Given the description of an element on the screen output the (x, y) to click on. 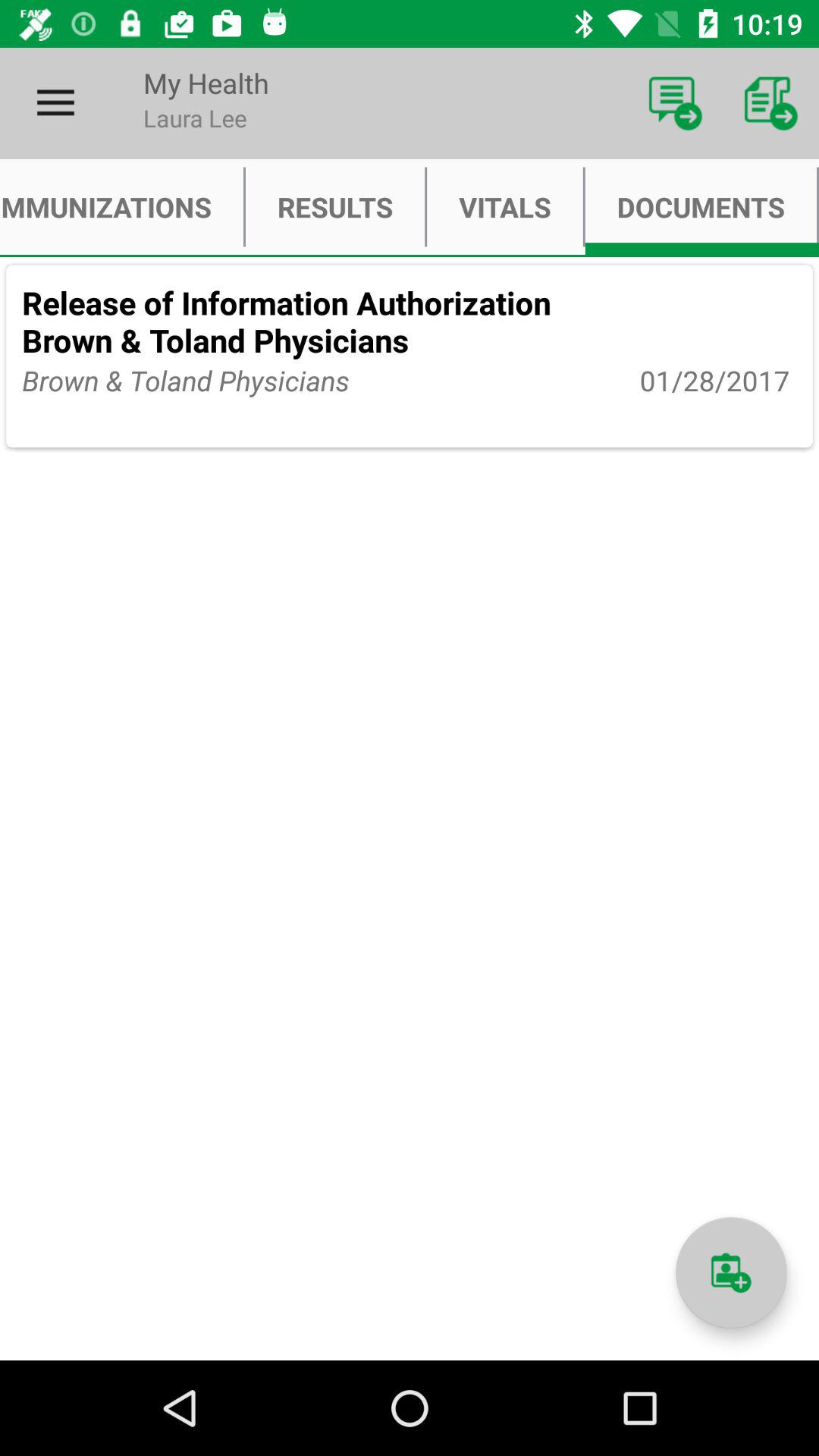
sharre the article (731, 1272)
